Given the description of an element on the screen output the (x, y) to click on. 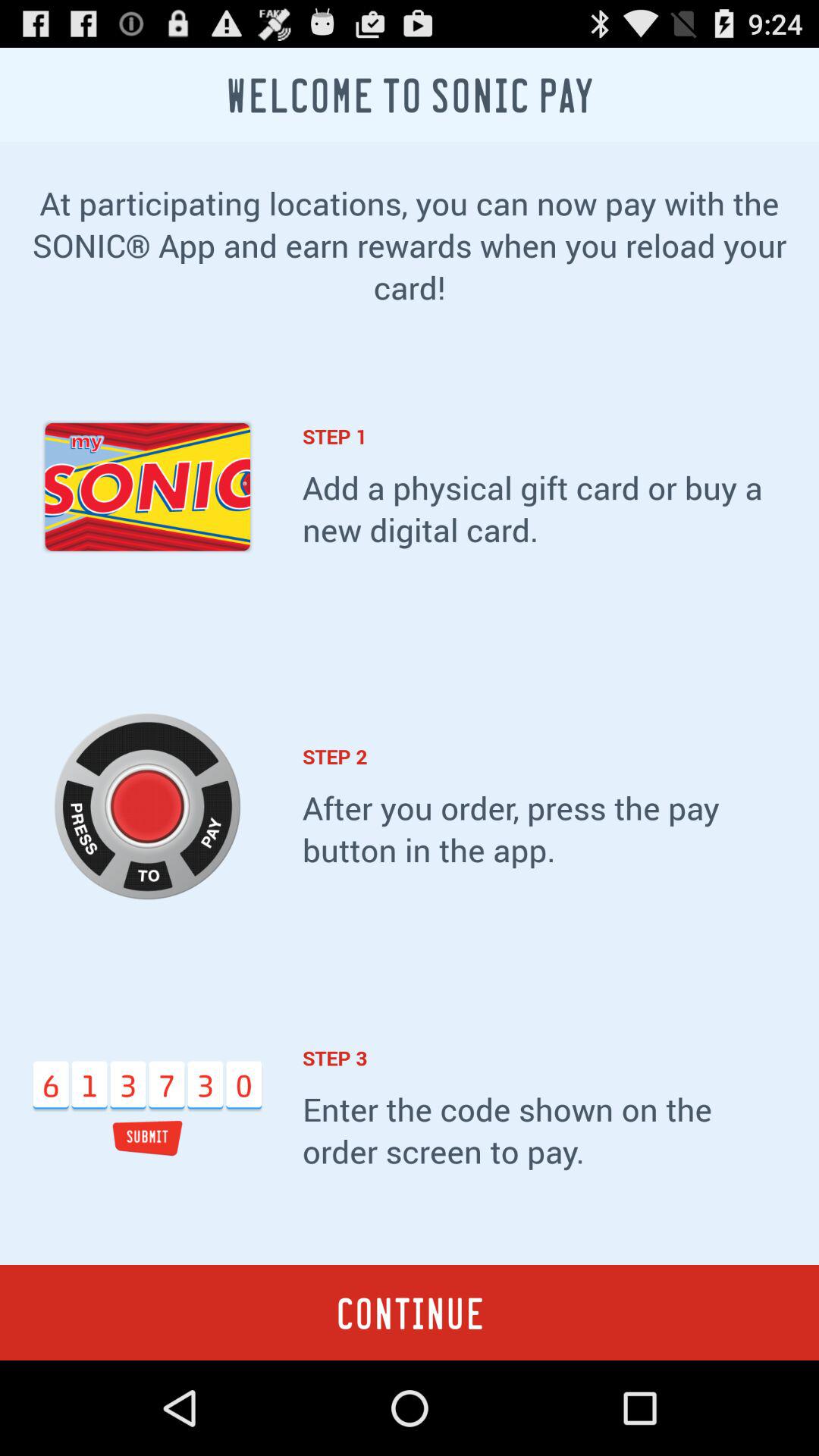
click the continue button (409, 1312)
